Given the description of an element on the screen output the (x, y) to click on. 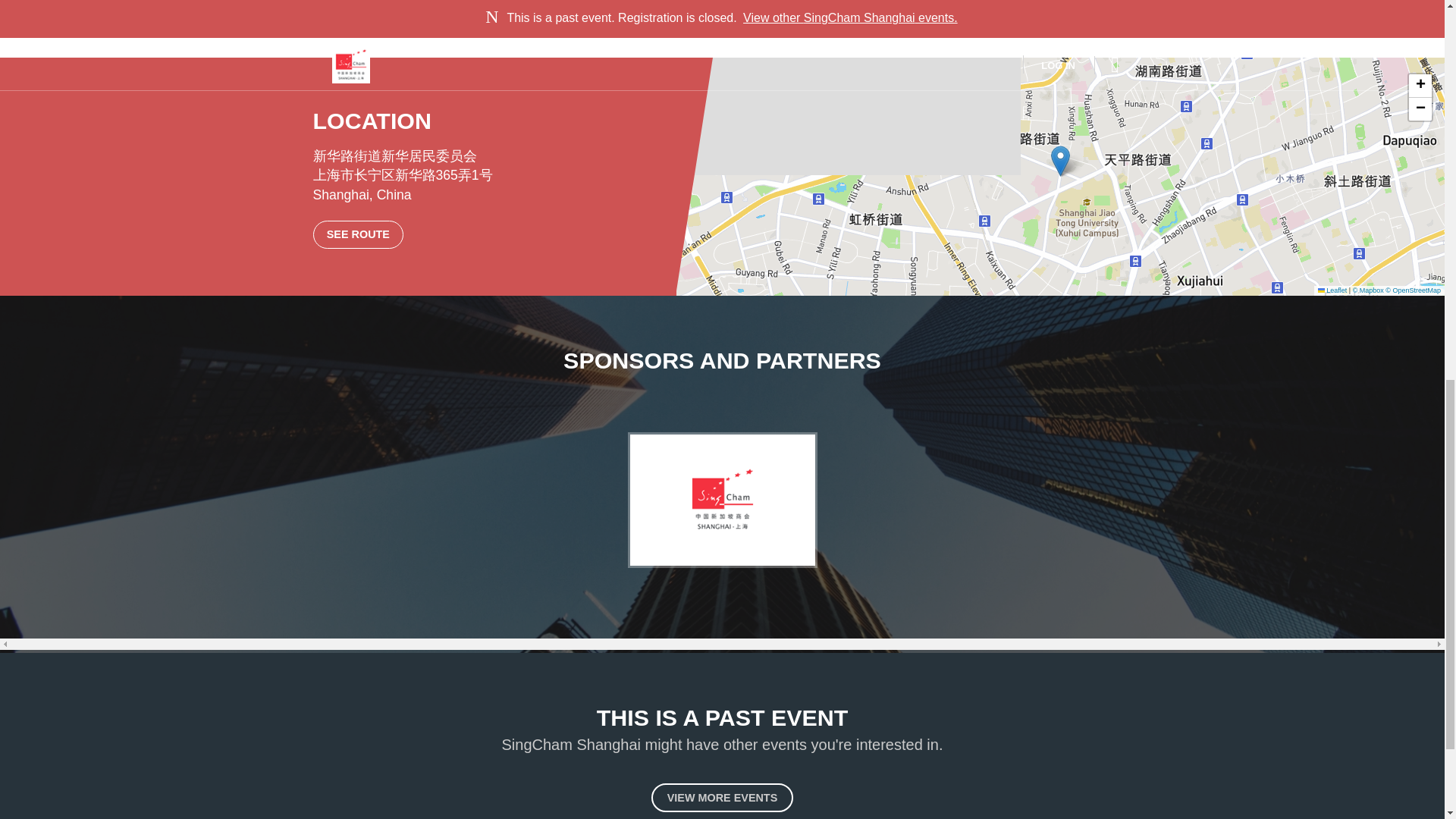
Zoom in (1420, 85)
Zoom out (1420, 108)
SEE ROUTE (358, 234)
Leaflet (1332, 290)
VIEW MORE EVENTS (721, 797)
A JavaScript library for interactive maps (1332, 290)
